Given the description of an element on the screen output the (x, y) to click on. 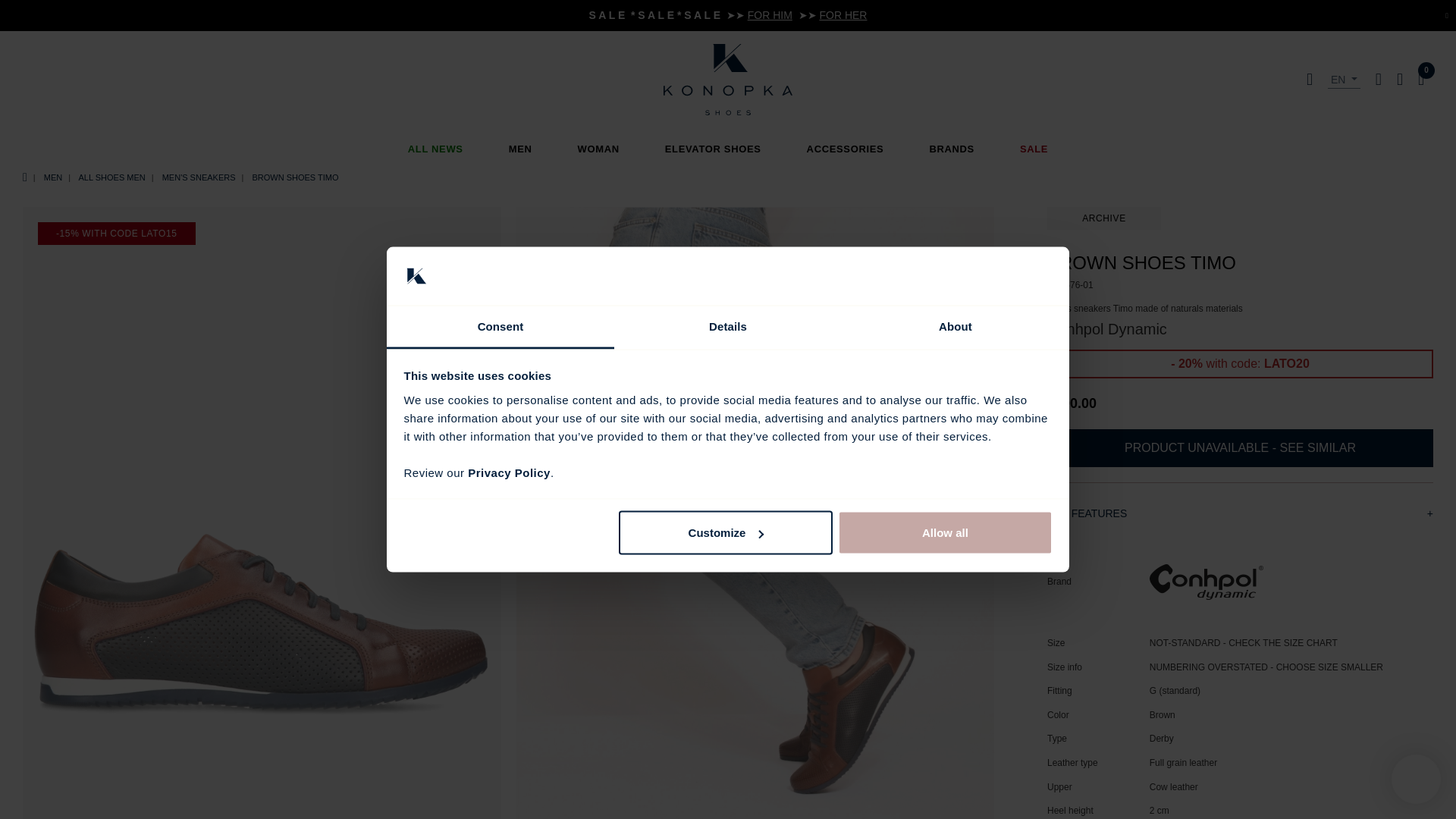
Consent (500, 326)
ALL NEWS (436, 149)
About (954, 326)
Details (727, 326)
Privacy Policy (508, 472)
